Given the description of an element on the screen output the (x, y) to click on. 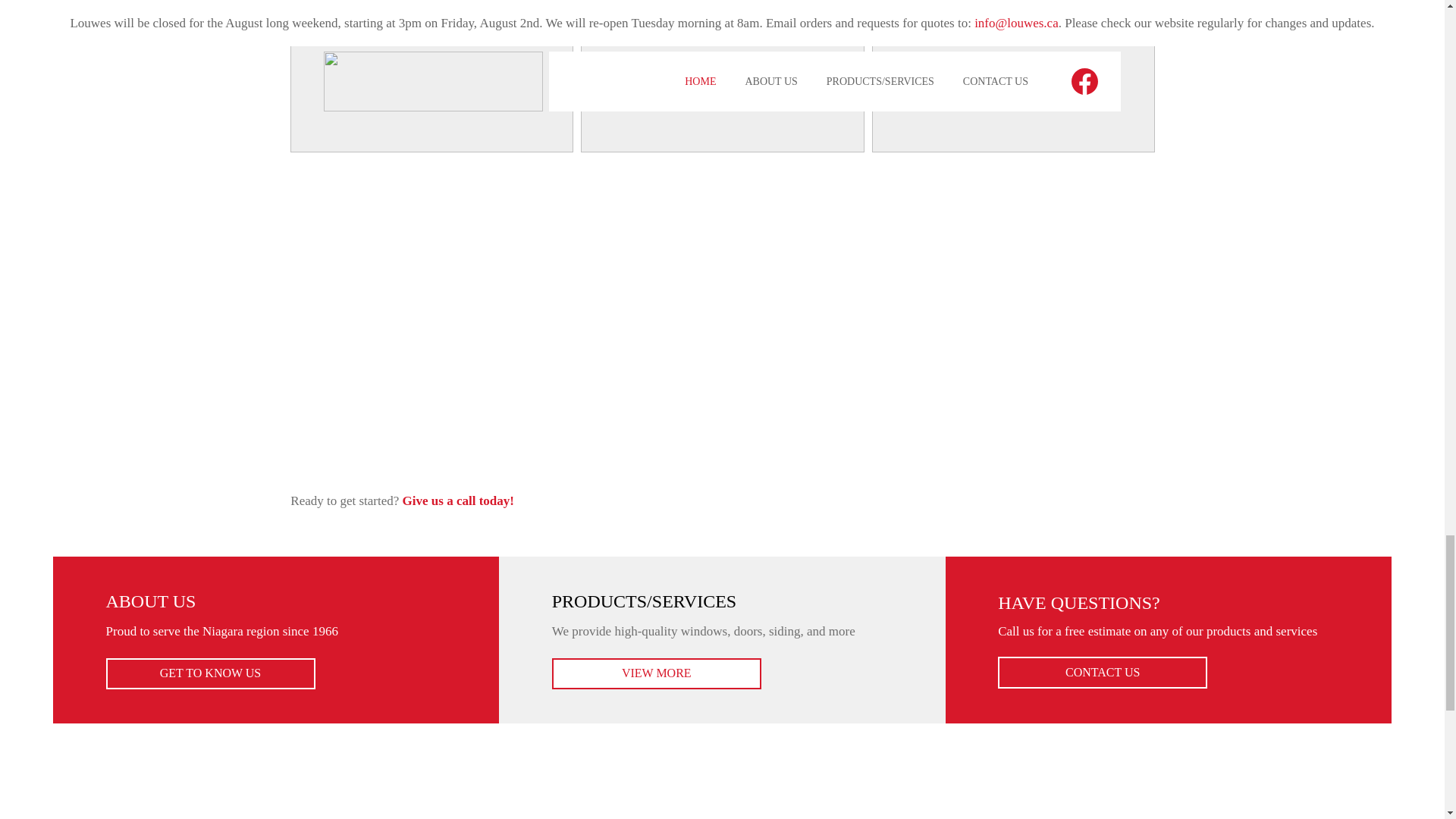
Give us a call today! (458, 500)
GET TO KNOW US (210, 674)
CONTACT US (1102, 672)
VIEW MORE (656, 674)
